Given the description of an element on the screen output the (x, y) to click on. 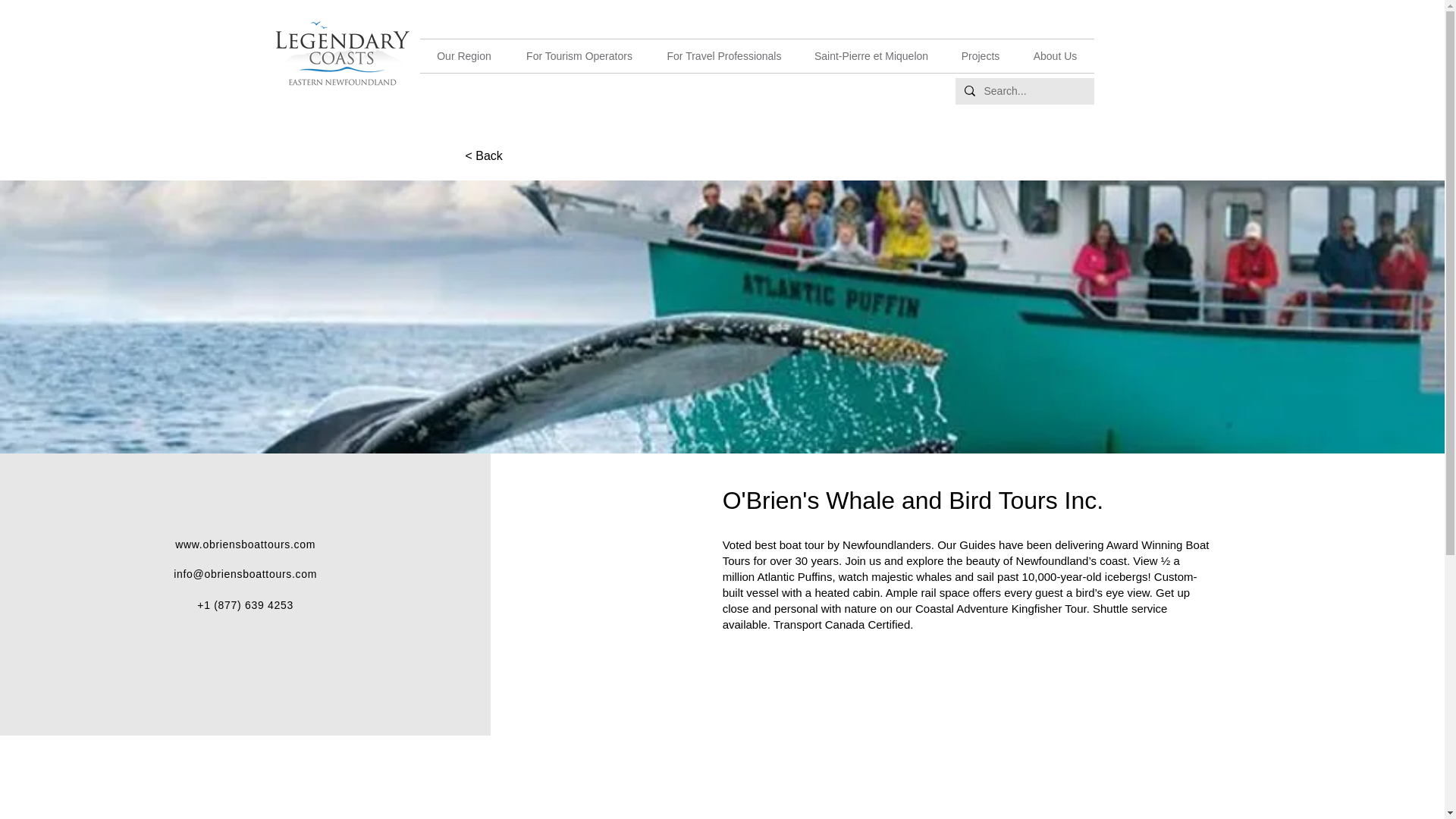
Saint-Pierre et Miquelon (870, 55)
Our Region (464, 55)
About Us (1054, 55)
www.obriensboattours.com (244, 544)
Projects (980, 55)
